Given the description of an element on the screen output the (x, y) to click on. 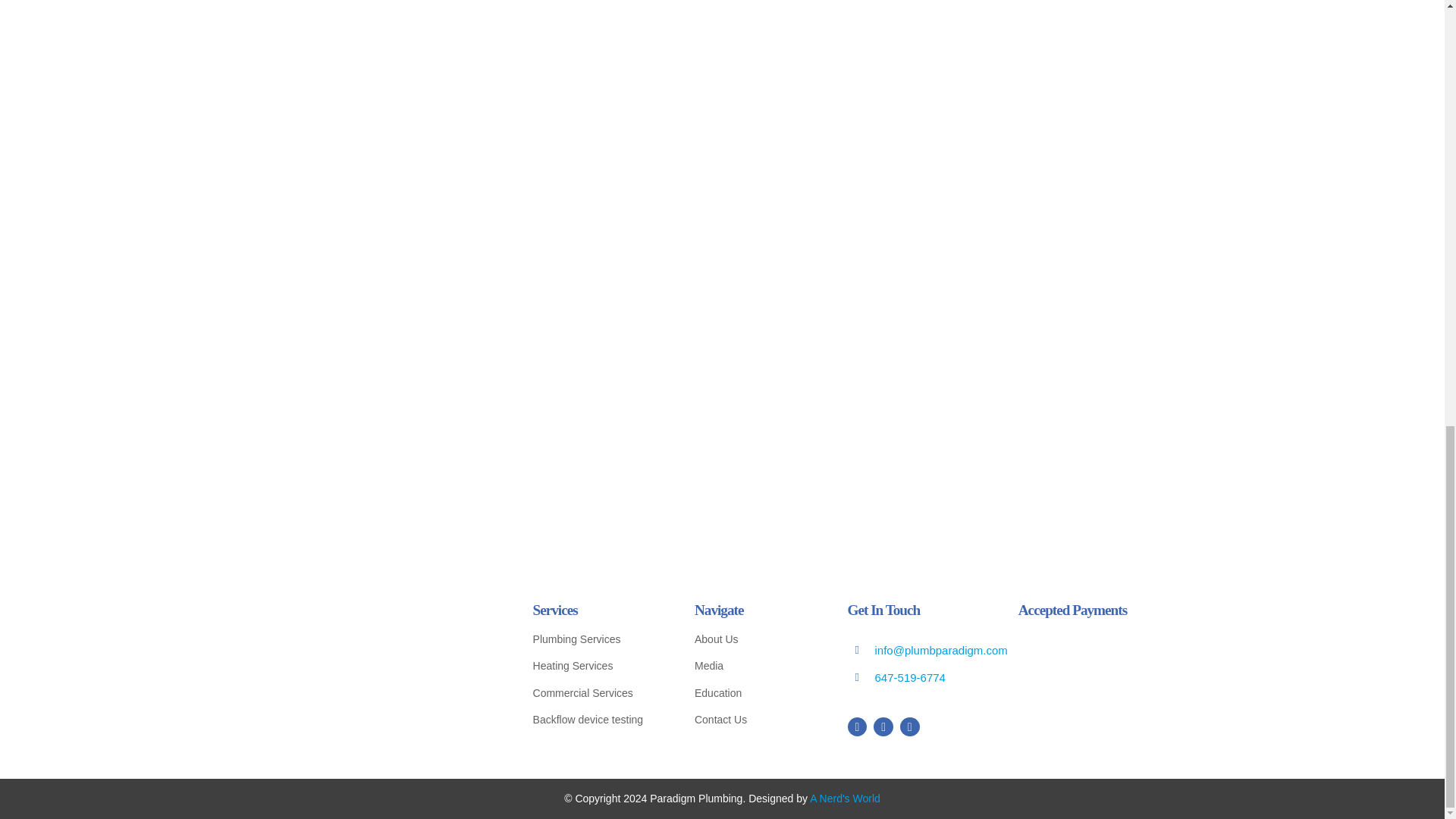
Media (753, 665)
Heating Services (596, 665)
Contact Us (753, 719)
About Us (753, 639)
647-519-6774 (909, 676)
Plumbing Services (596, 639)
Paradigm colour full (383, 661)
Education (753, 692)
Commercial Services (596, 692)
Backflow device testing (596, 719)
A Nerd's World (844, 798)
